Given the description of an element on the screen output the (x, y) to click on. 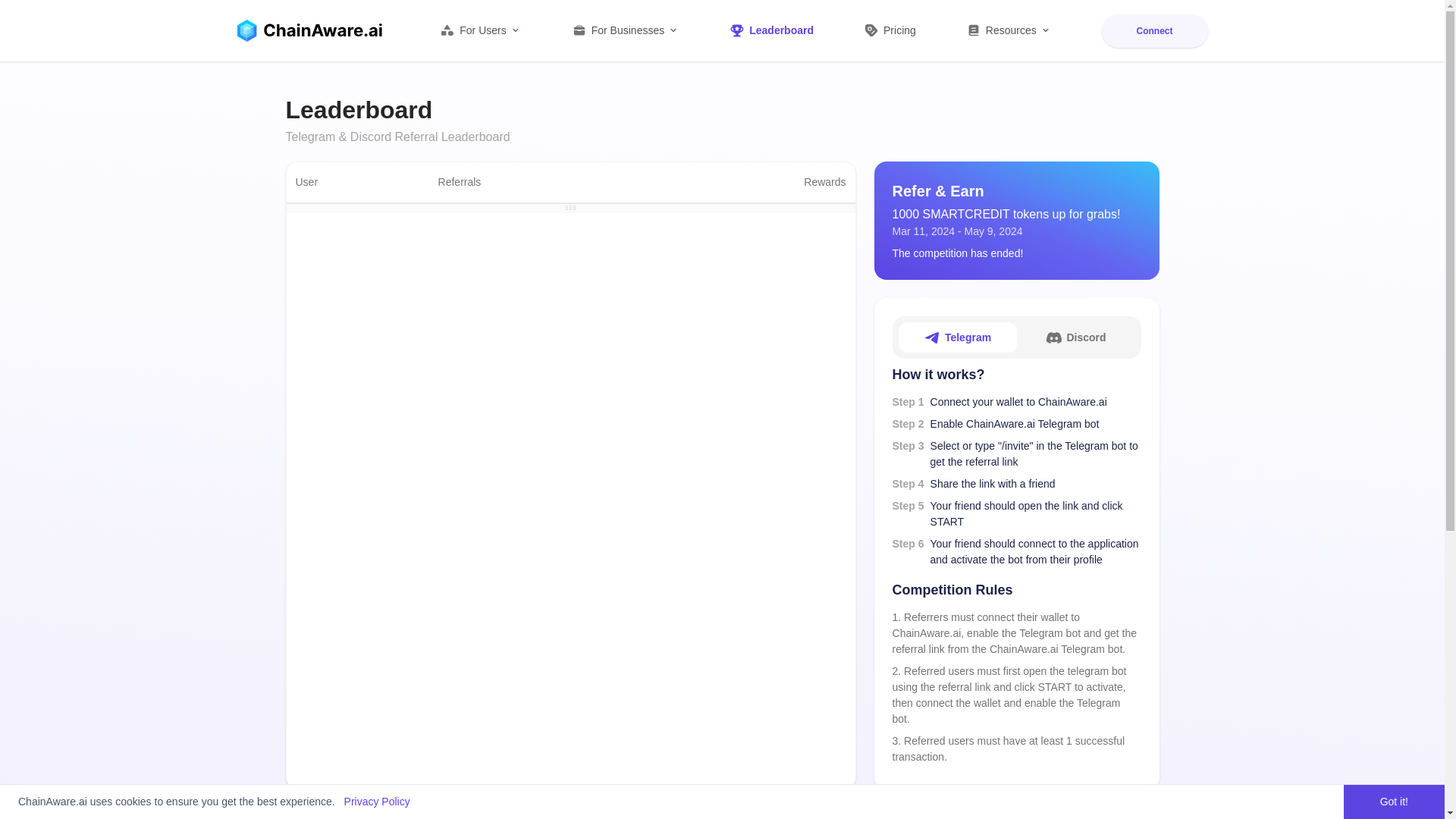
Discord (1075, 337)
Pricing (889, 30)
Telegram (957, 337)
Connect (1153, 29)
Privacy Policy (376, 801)
Leaderboard (770, 30)
